Given the description of an element on the screen output the (x, y) to click on. 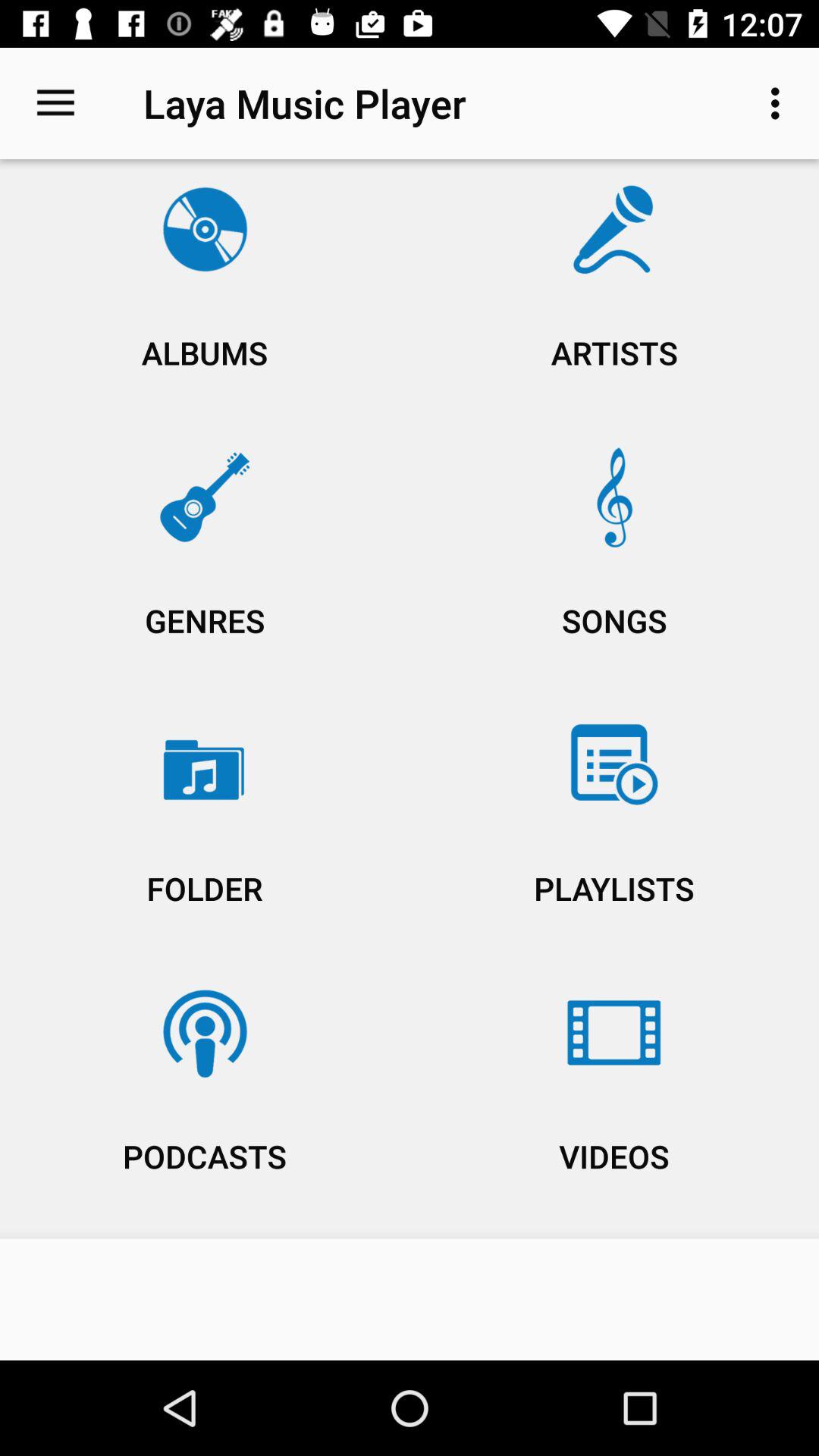
choose the icon next to laya music player (55, 103)
